Given the description of an element on the screen output the (x, y) to click on. 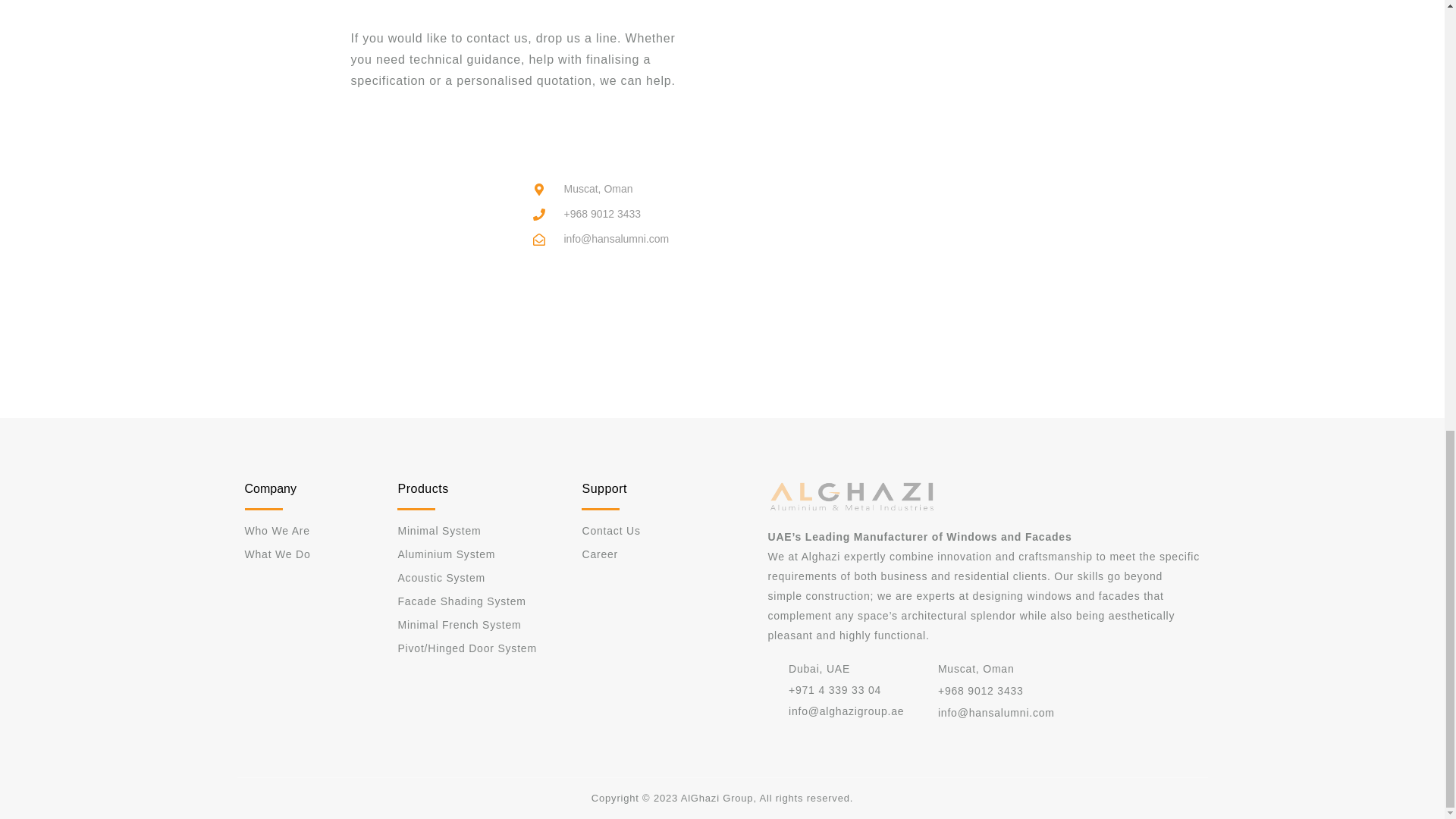
Who We Are (300, 530)
Minimal System (481, 530)
Acoustic System (481, 577)
What We Do (300, 554)
Aluminium System (481, 554)
